Given the description of an element on the screen output the (x, y) to click on. 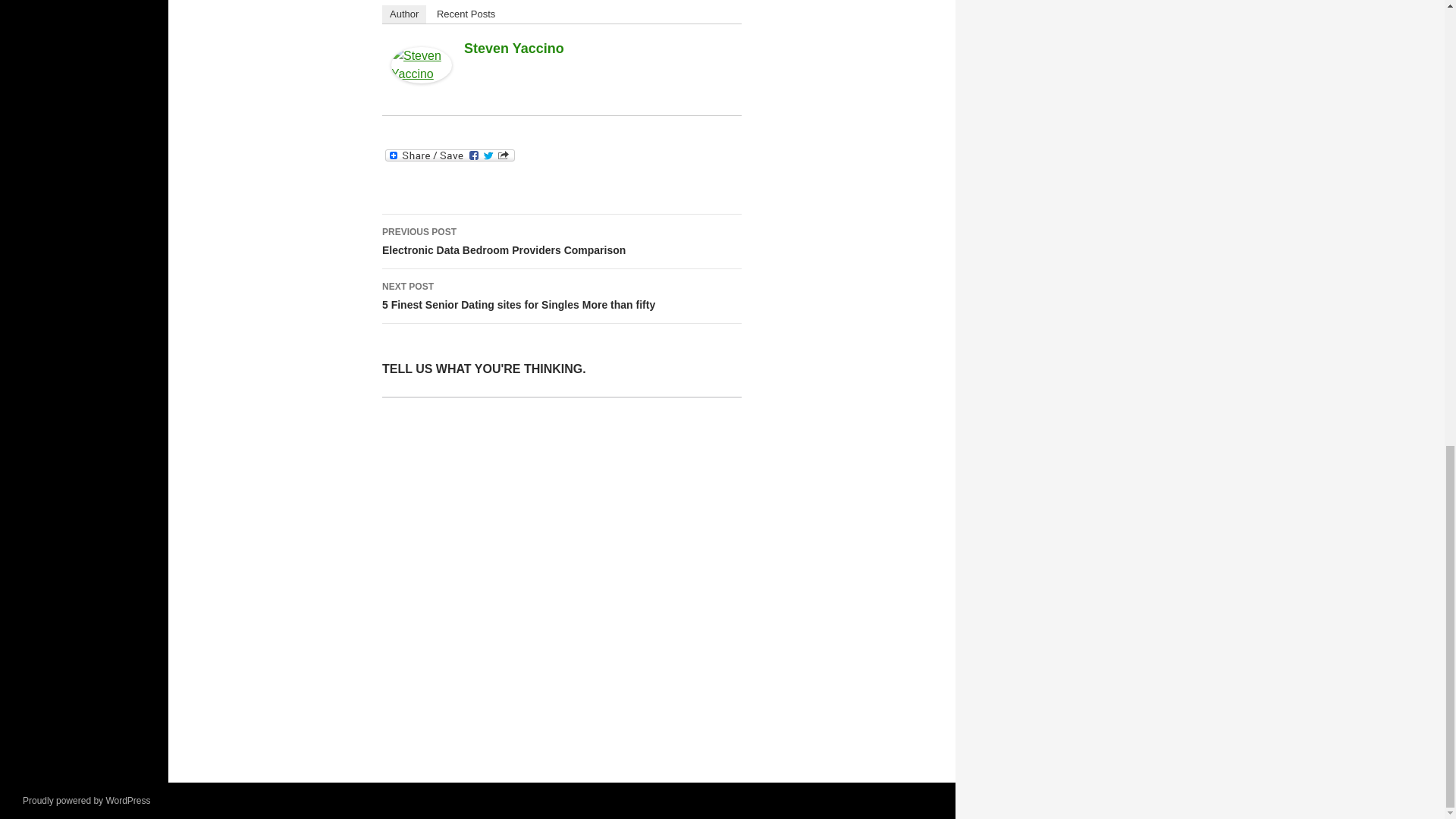
Comment Form (561, 559)
Steven Yaccino (514, 48)
Recent Posts (465, 13)
Steven Yaccino (421, 63)
Author (561, 241)
